Given the description of an element on the screen output the (x, y) to click on. 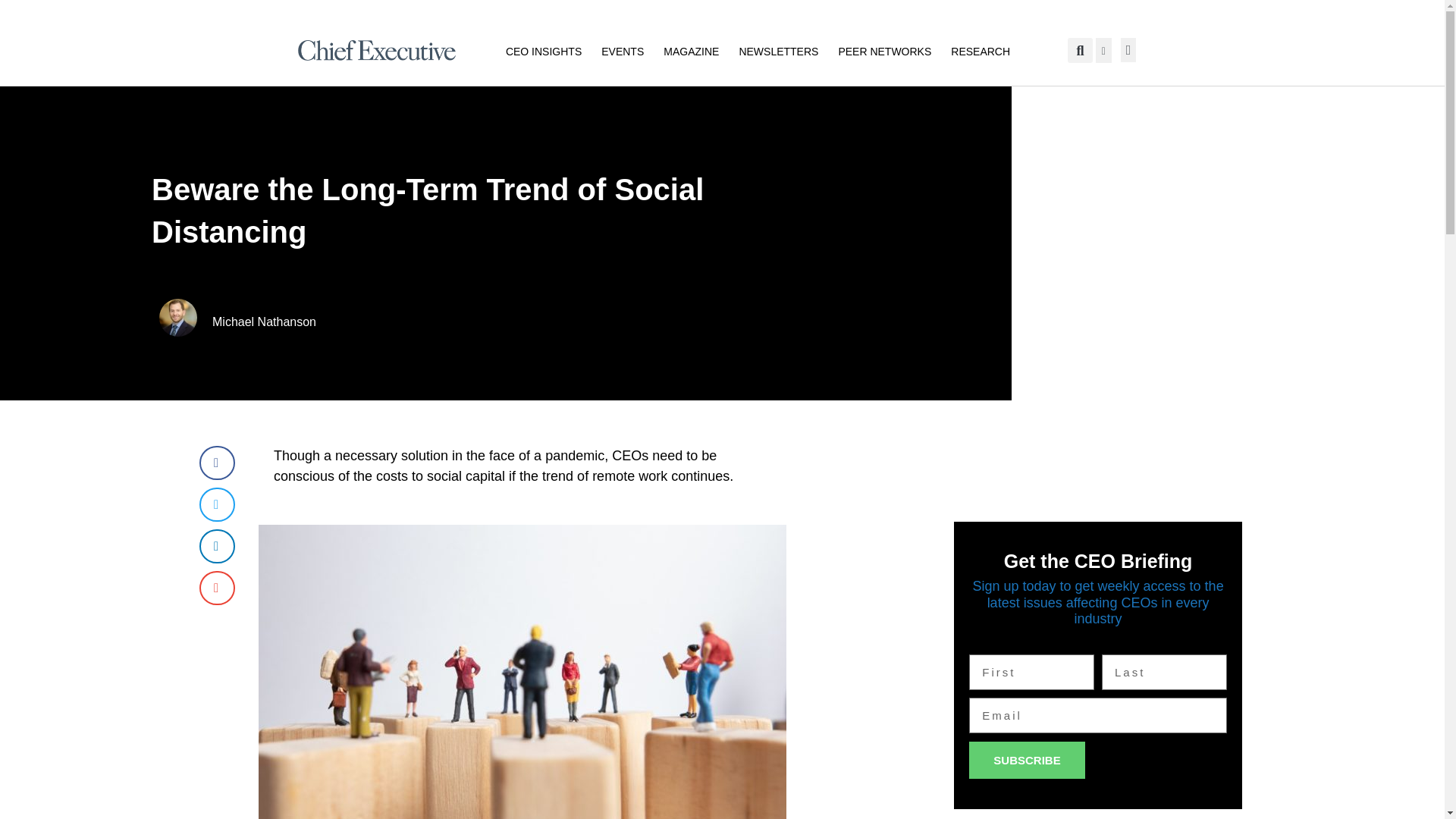
MAGAZINE (691, 50)
RESEARCH (980, 50)
EVENTS (622, 50)
CEO INSIGHTS (543, 50)
NEWSLETTERS (778, 50)
PEER NETWORKS (884, 50)
